Given the description of an element on the screen output the (x, y) to click on. 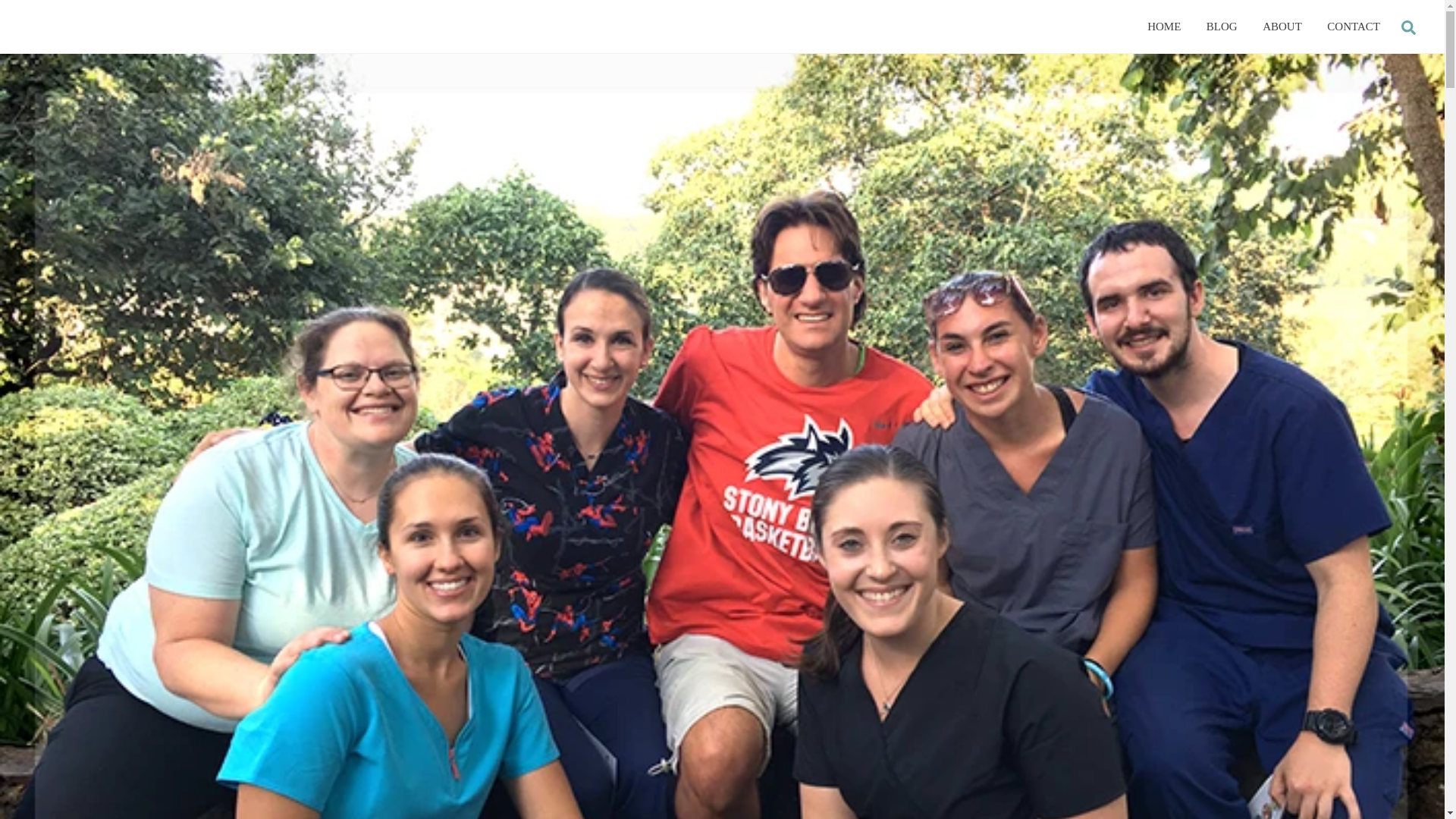
BLOG (722, 26)
CONTACT (1222, 26)
SEARCH (1353, 26)
HOME (1408, 25)
ABOUT (1163, 26)
